Given the description of an element on the screen output the (x, y) to click on. 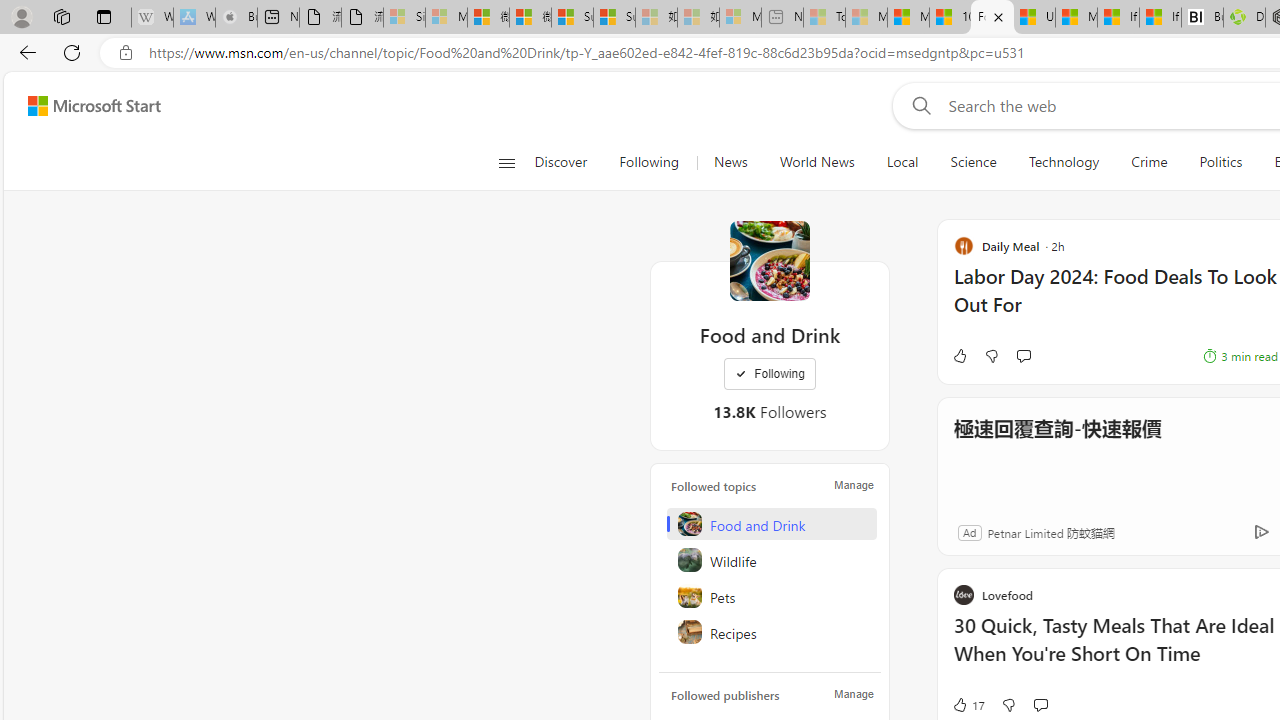
Pets (771, 596)
Sign in to your Microsoft account - Sleeping (404, 17)
Ad Choice (1261, 532)
World News (816, 162)
Marine life - MSN - Sleeping (866, 17)
Politics (1220, 162)
Class: button-glyph (505, 162)
US Heat Deaths Soared To Record High Last Year (1033, 17)
New tab - Sleeping (781, 17)
Crime (1149, 162)
Science (973, 162)
Open navigation menu (506, 162)
Microsoft account | Account Checkup - Sleeping (740, 17)
